Given the description of an element on the screen output the (x, y) to click on. 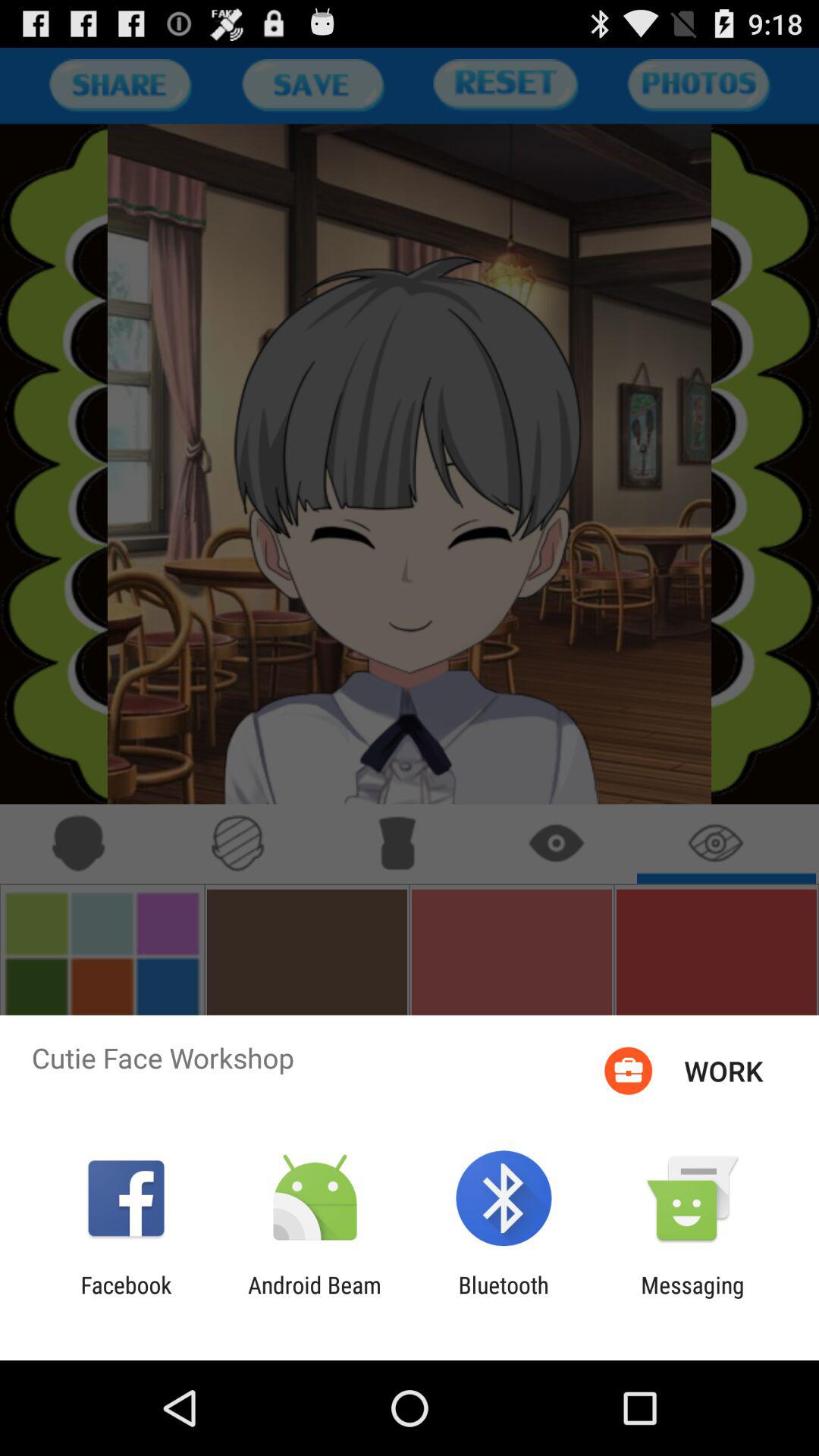
turn on app to the right of android beam icon (503, 1298)
